Given the description of an element on the screen output the (x, y) to click on. 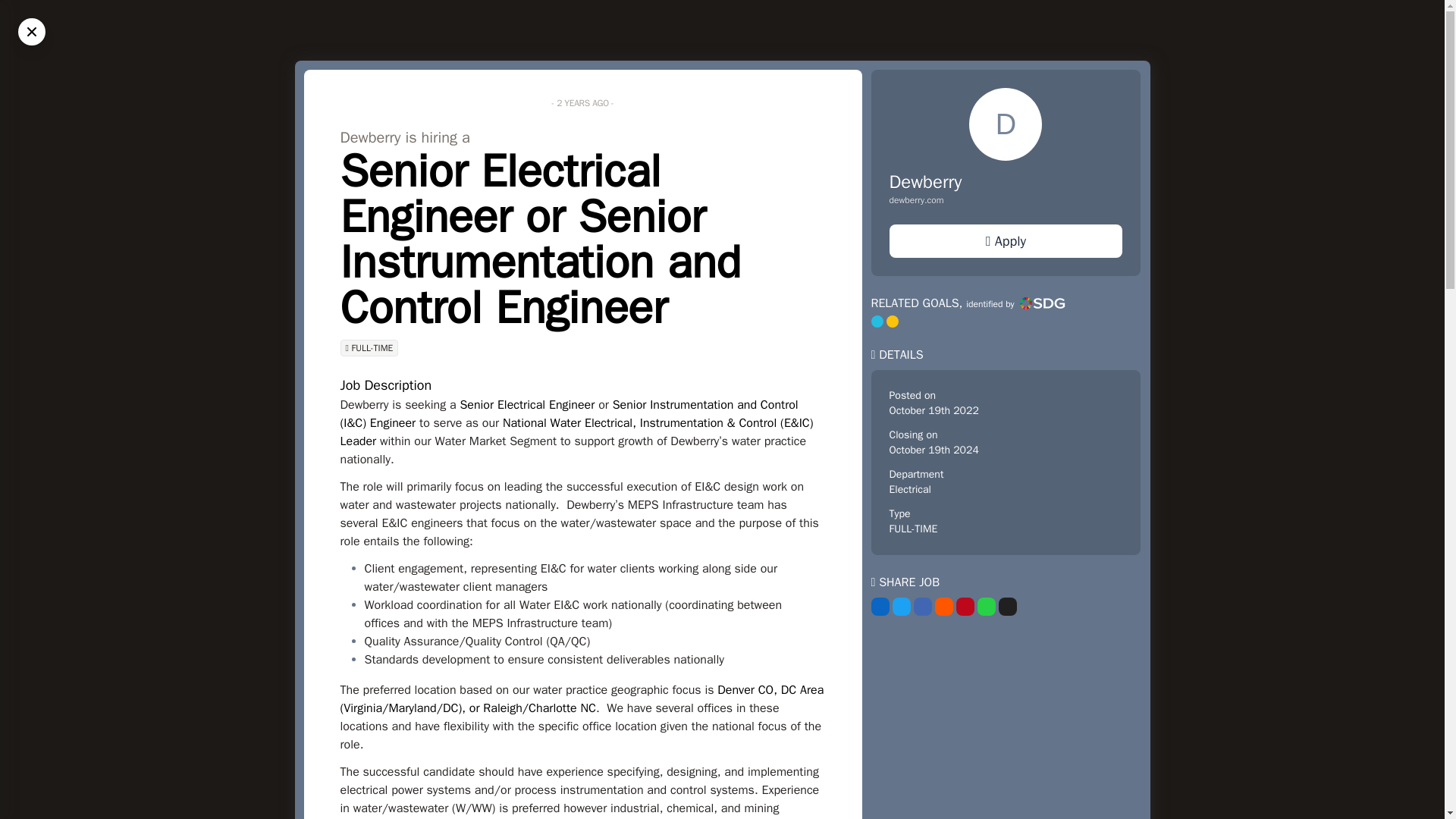
Affordable and Clean Energy sustainability jobs (891, 321)
share on pinterest (964, 606)
share with whatsapp (985, 606)
share on twitter (900, 606)
Dewberry (924, 181)
share on reddit (943, 606)
Clean Water and Sanitation sustainability jobs (876, 321)
share with email (1006, 606)
Electrical (909, 489)
dewberry.com (1005, 200)
share on facebook (921, 606)
share on linkedin (879, 606)
